Given the description of an element on the screen output the (x, y) to click on. 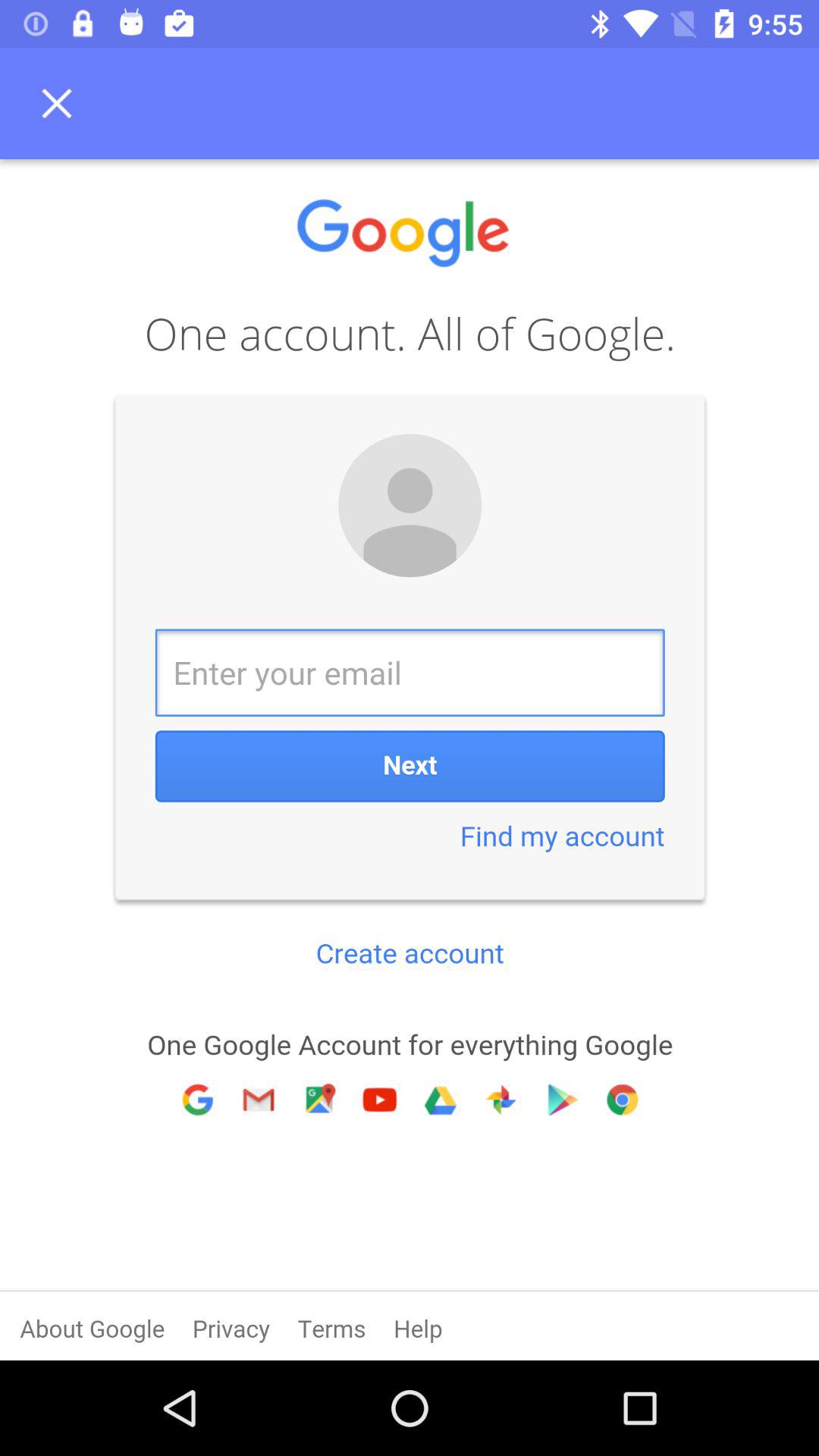
next (409, 759)
